Given the description of an element on the screen output the (x, y) to click on. 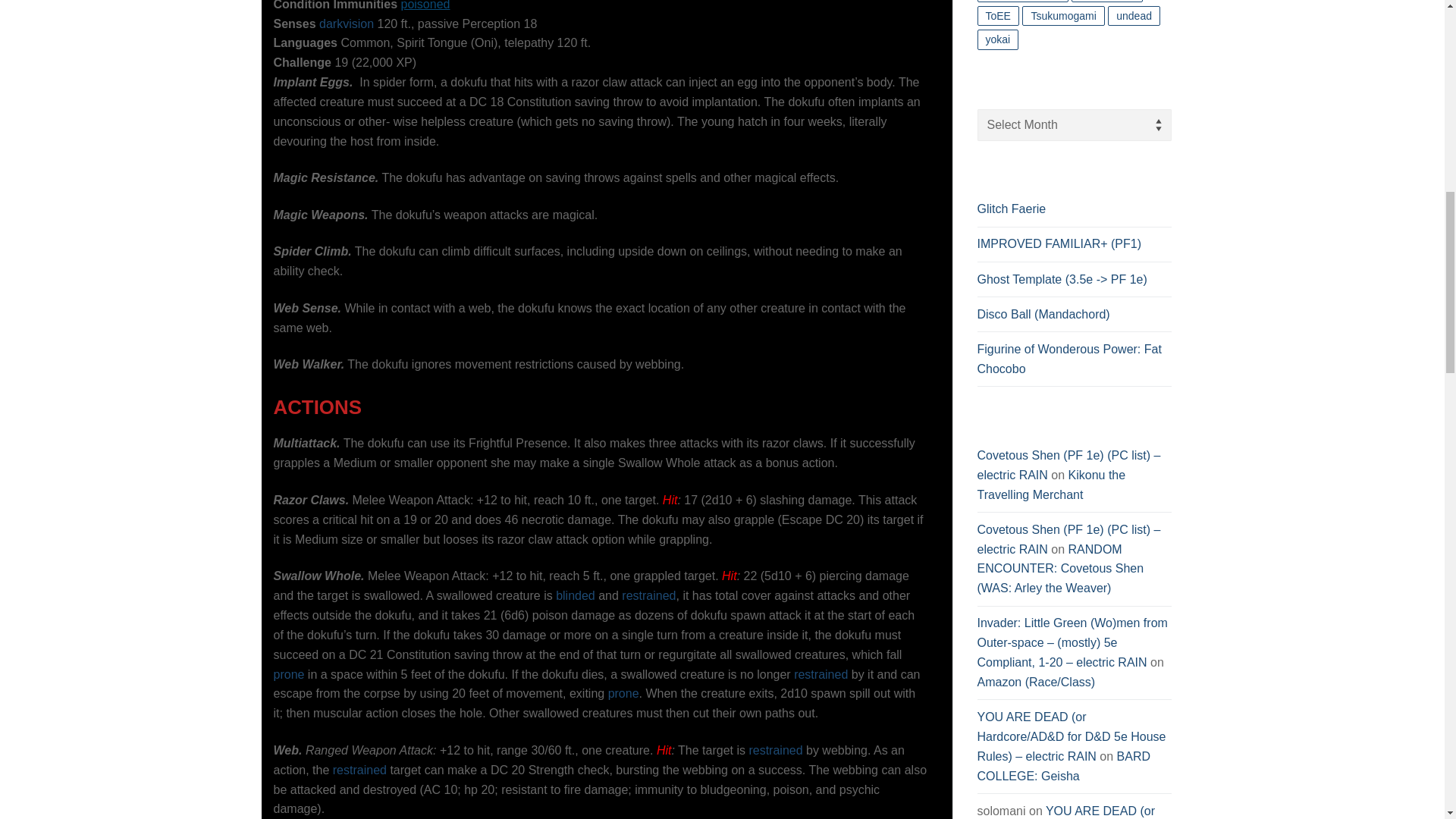
restrained (775, 749)
restrained (648, 594)
restrained (820, 674)
darkvision (346, 23)
prone (623, 693)
blinded (575, 594)
restrained (360, 769)
prone (288, 674)
